Given the description of an element on the screen output the (x, y) to click on. 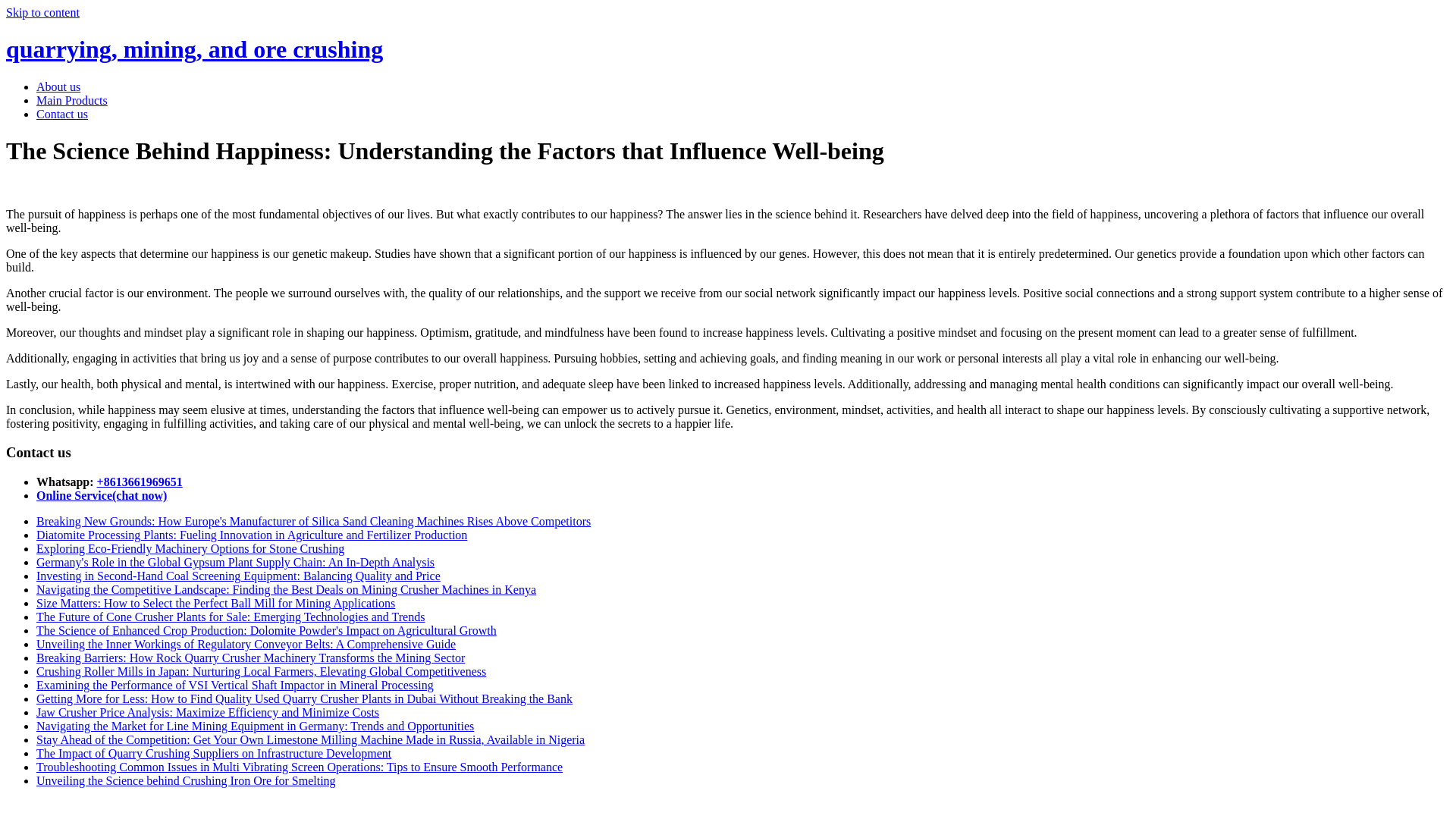
About us (58, 86)
Main Products (71, 100)
